Given the description of an element on the screen output the (x, y) to click on. 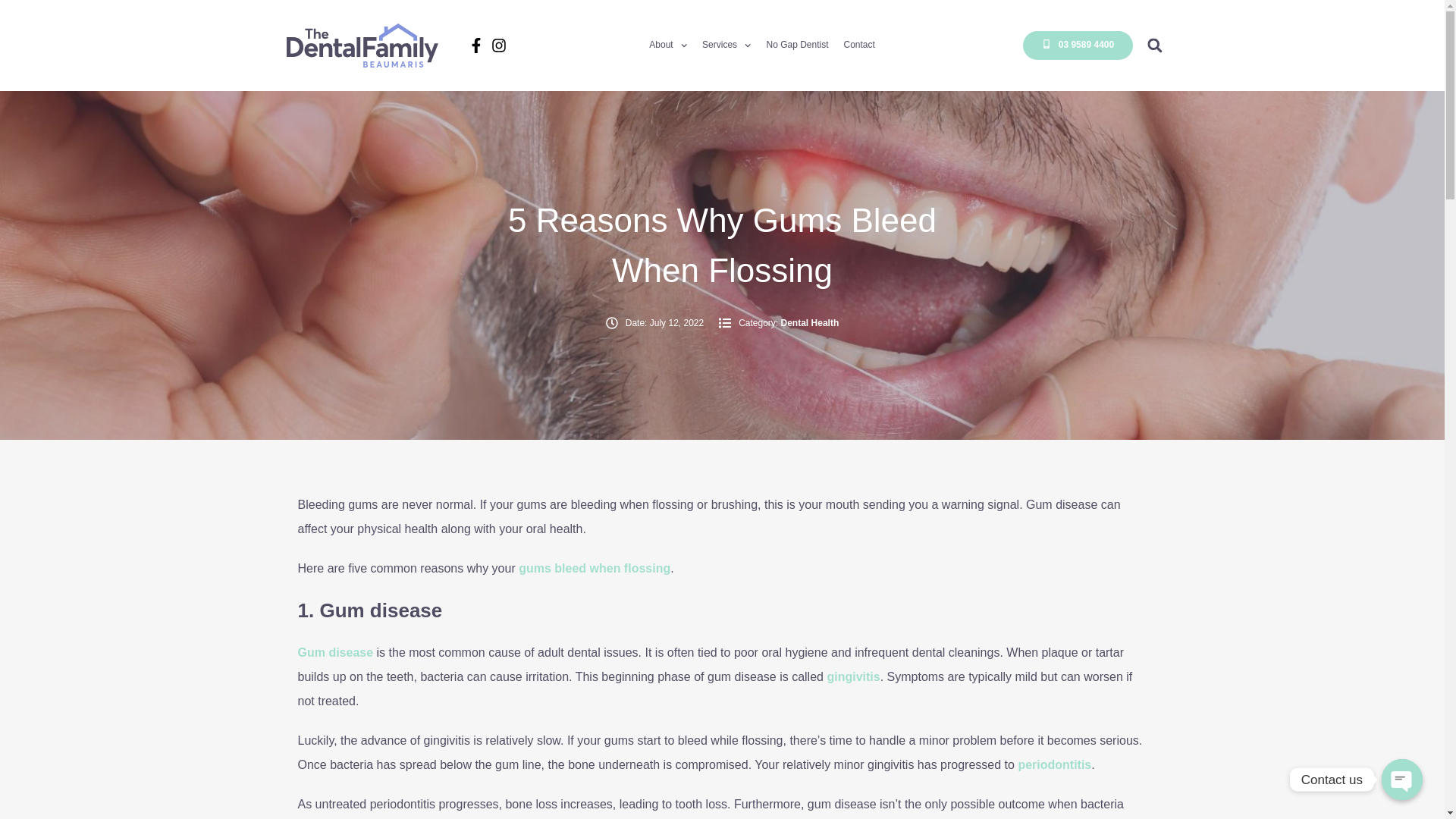
Services (726, 45)
About (668, 45)
No Gap Dentist (796, 45)
Contact (859, 45)
